Given the description of an element on the screen output the (x, y) to click on. 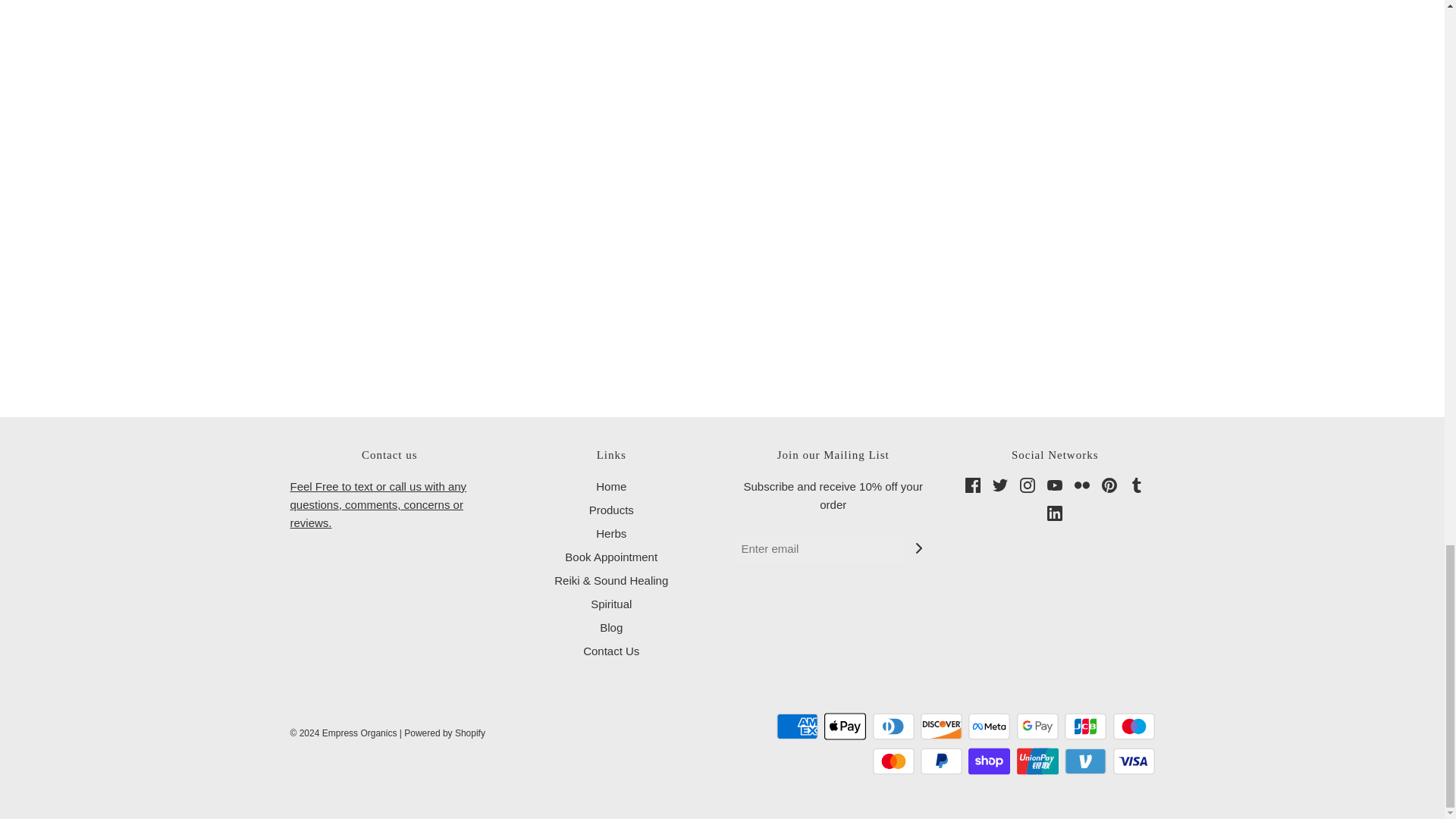
YouTube icon (1054, 485)
Facebook icon (972, 485)
Pinterest icon (1109, 485)
Instagram icon (1027, 485)
Twitter icon (999, 485)
Flickr icon (1081, 485)
Contact Us (377, 504)
